Given the description of an element on the screen output the (x, y) to click on. 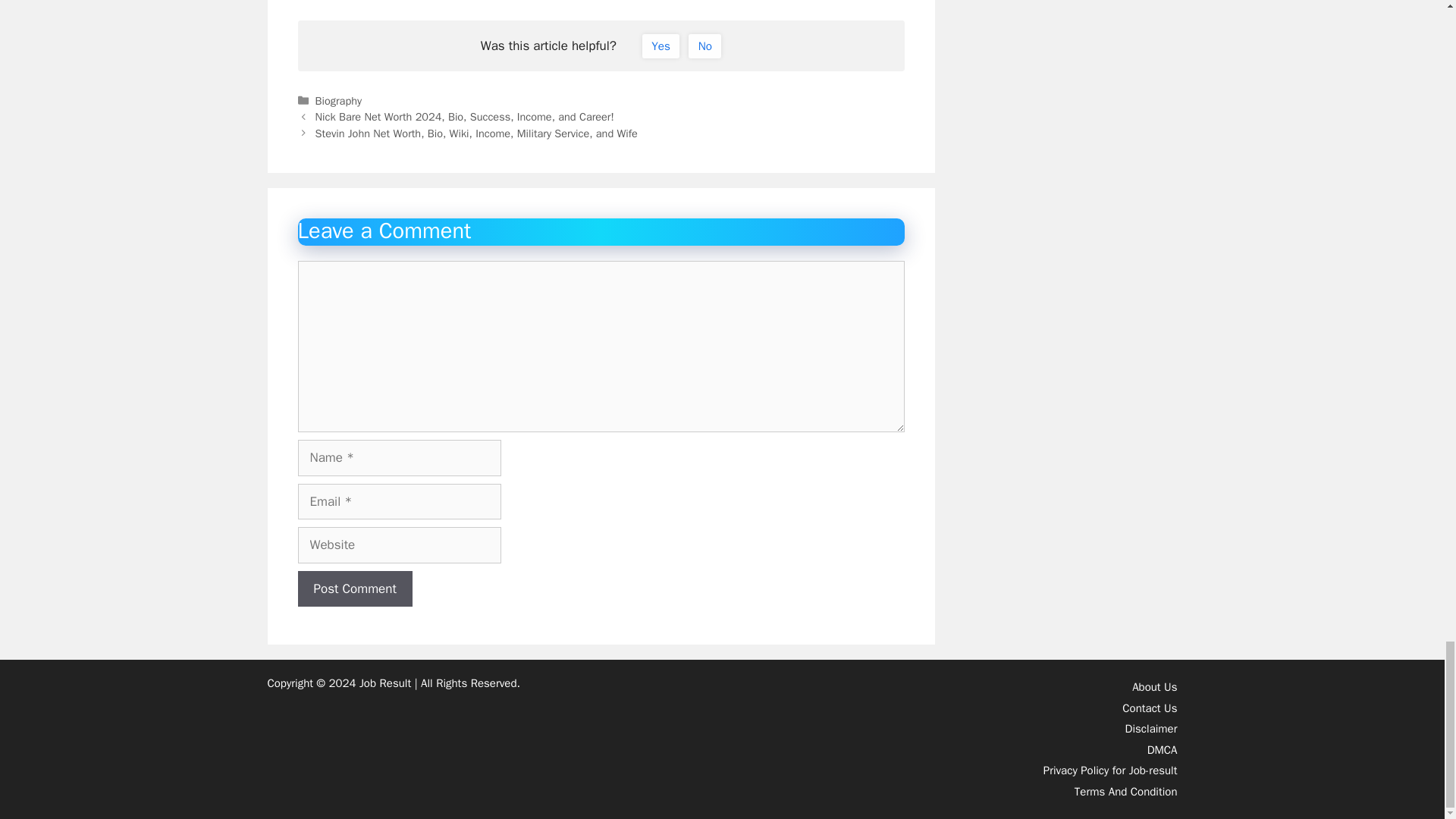
Nick Bare Net Worth 2024, Bio, Success, Income, and Career! (464, 116)
Post Comment (354, 588)
Biography (338, 100)
Post Comment (354, 588)
